Given the description of an element on the screen output the (x, y) to click on. 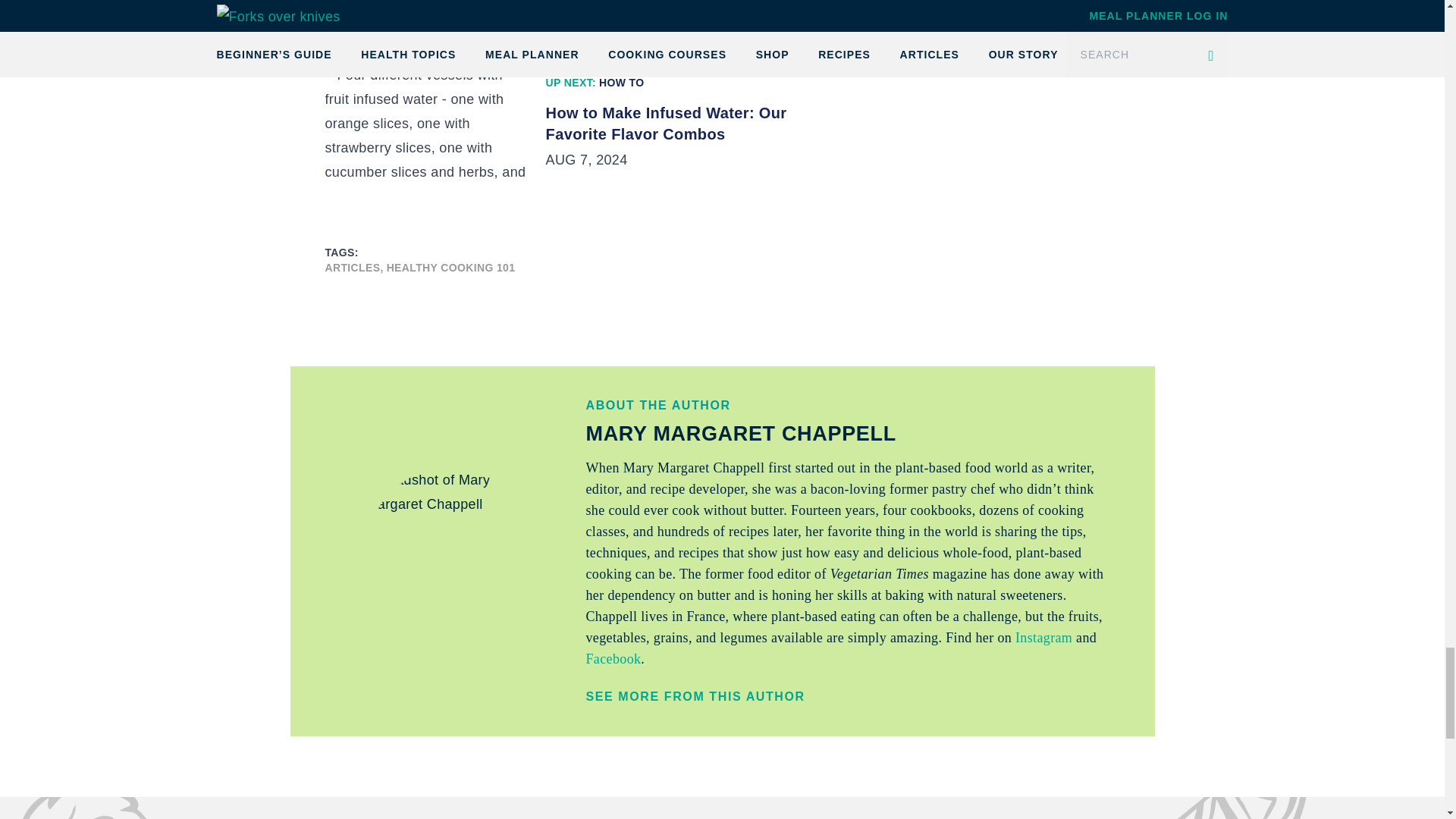
SEE MORE FROM THIS AUTHOR (852, 696)
ARTICLES, (353, 267)
Instagram (1041, 637)
How to Make Infused Water: Our Favorite Flavor Combos (693, 123)
HEALTHY COOKING 101 (451, 267)
Facebook (612, 658)
HOW TO (620, 82)
